Given the description of an element on the screen output the (x, y) to click on. 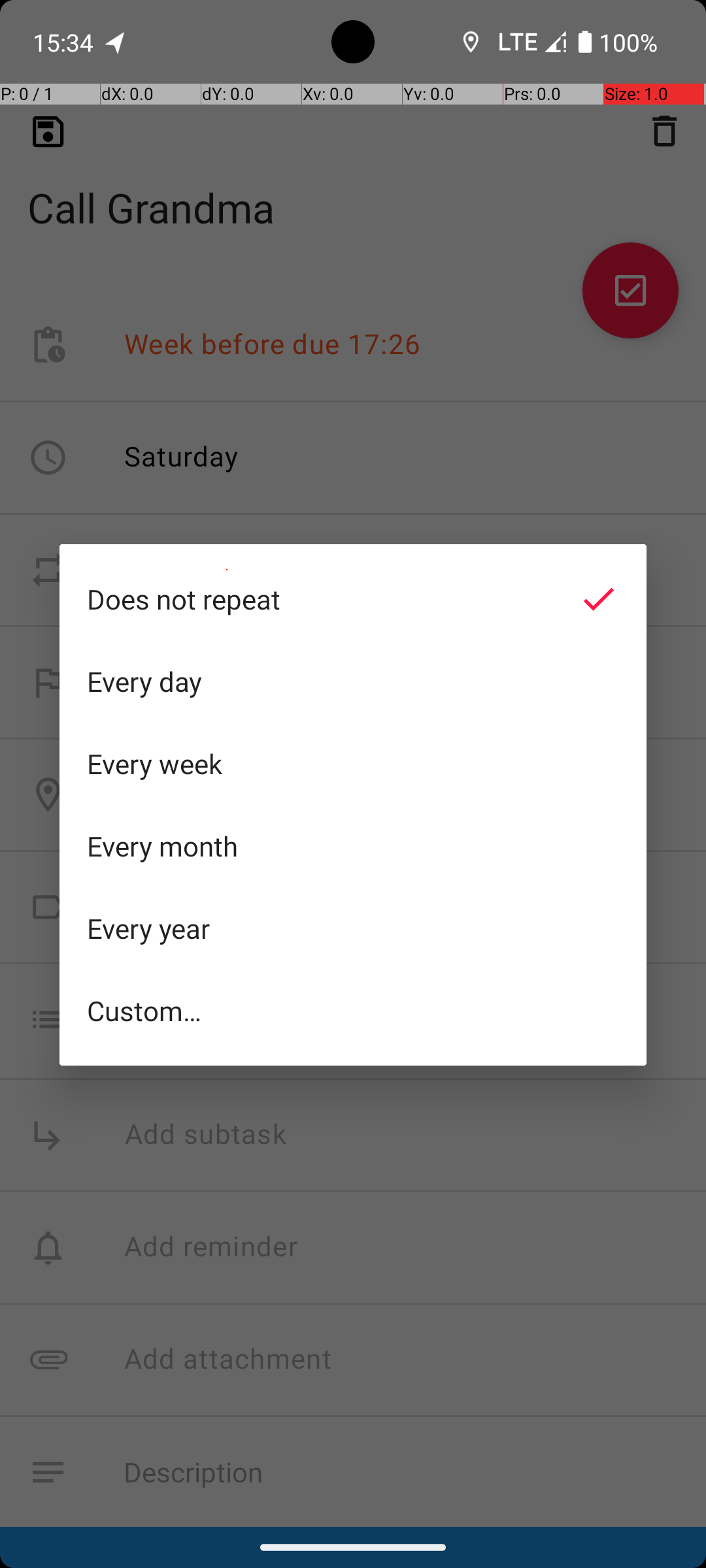
Every day Element type: android.widget.CheckedTextView (352, 681)
Every week Element type: android.widget.CheckedTextView (352, 763)
Every month Element type: android.widget.CheckedTextView (352, 845)
Every year Element type: android.widget.CheckedTextView (352, 928)
Custom… Element type: android.widget.CheckedTextView (352, 1010)
